Given the description of an element on the screen output the (x, y) to click on. 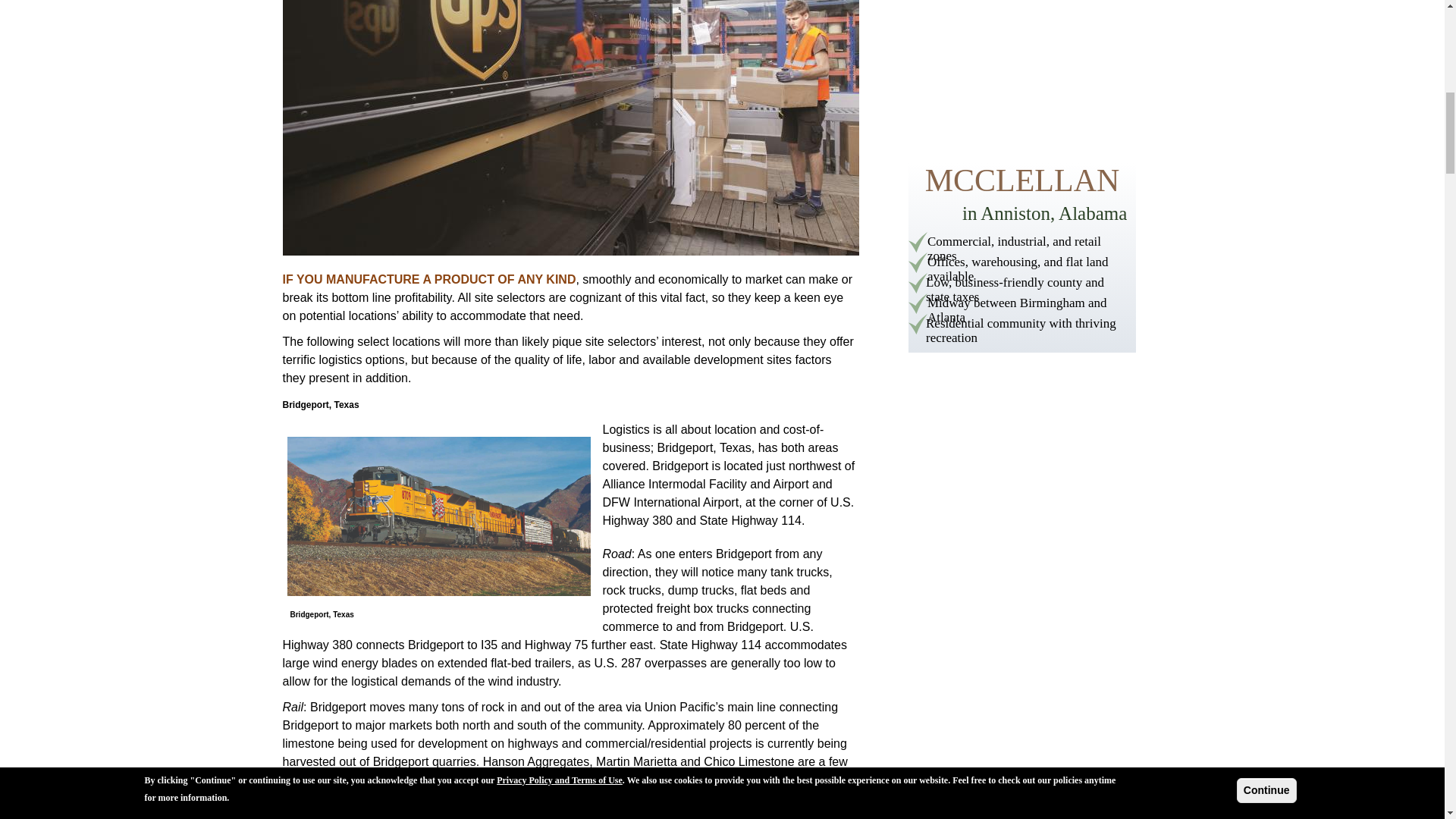
3rd party ad content (1021, 257)
3rd party ad content (1021, 481)
YouTube video player (1022, 70)
